Given the description of an element on the screen output the (x, y) to click on. 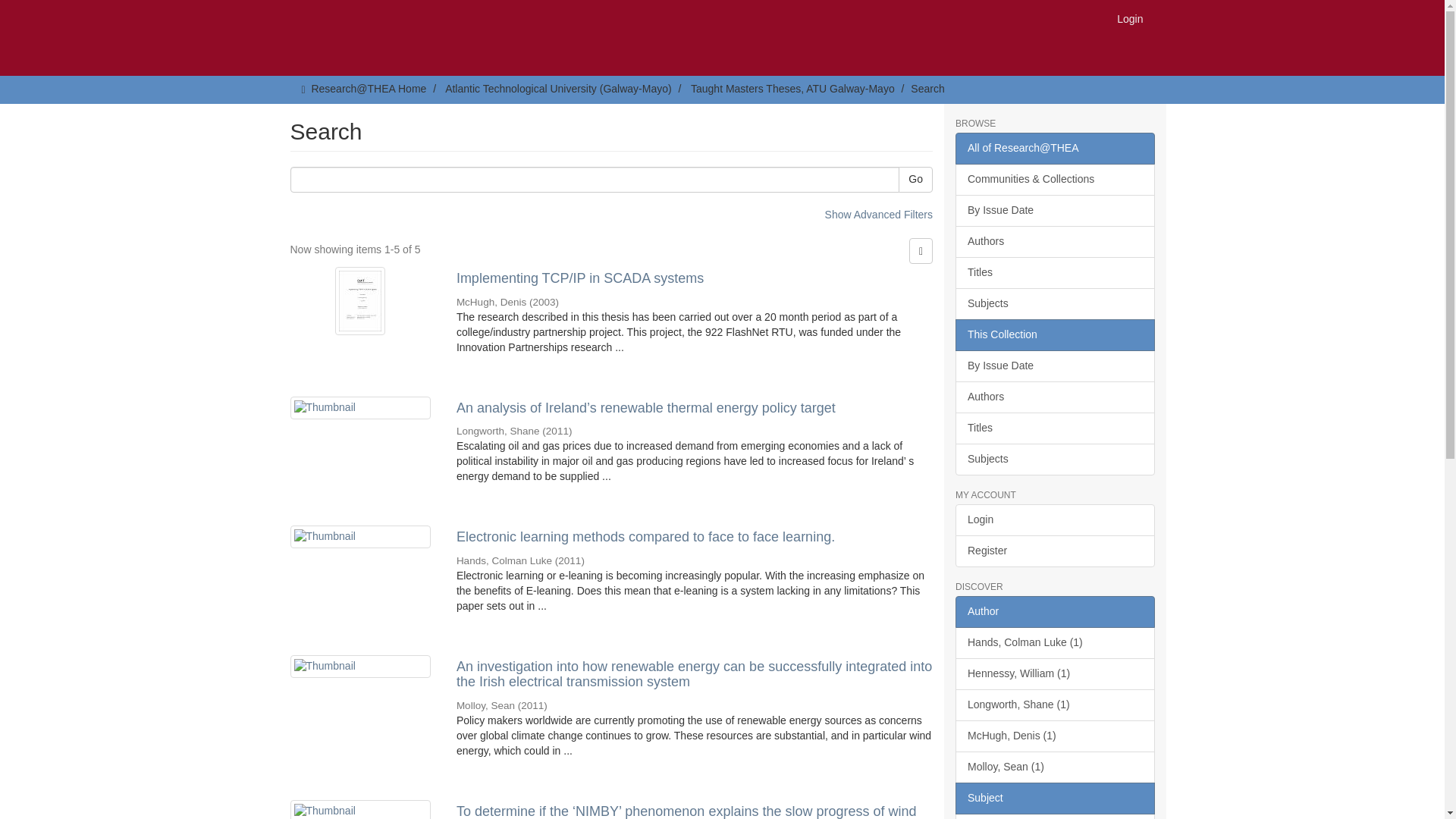
Taught Masters Theses, ATU Galway-Mayo (792, 88)
Go (915, 179)
Login (1129, 18)
Show Advanced Filters (879, 214)
